Given the description of an element on the screen output the (x, y) to click on. 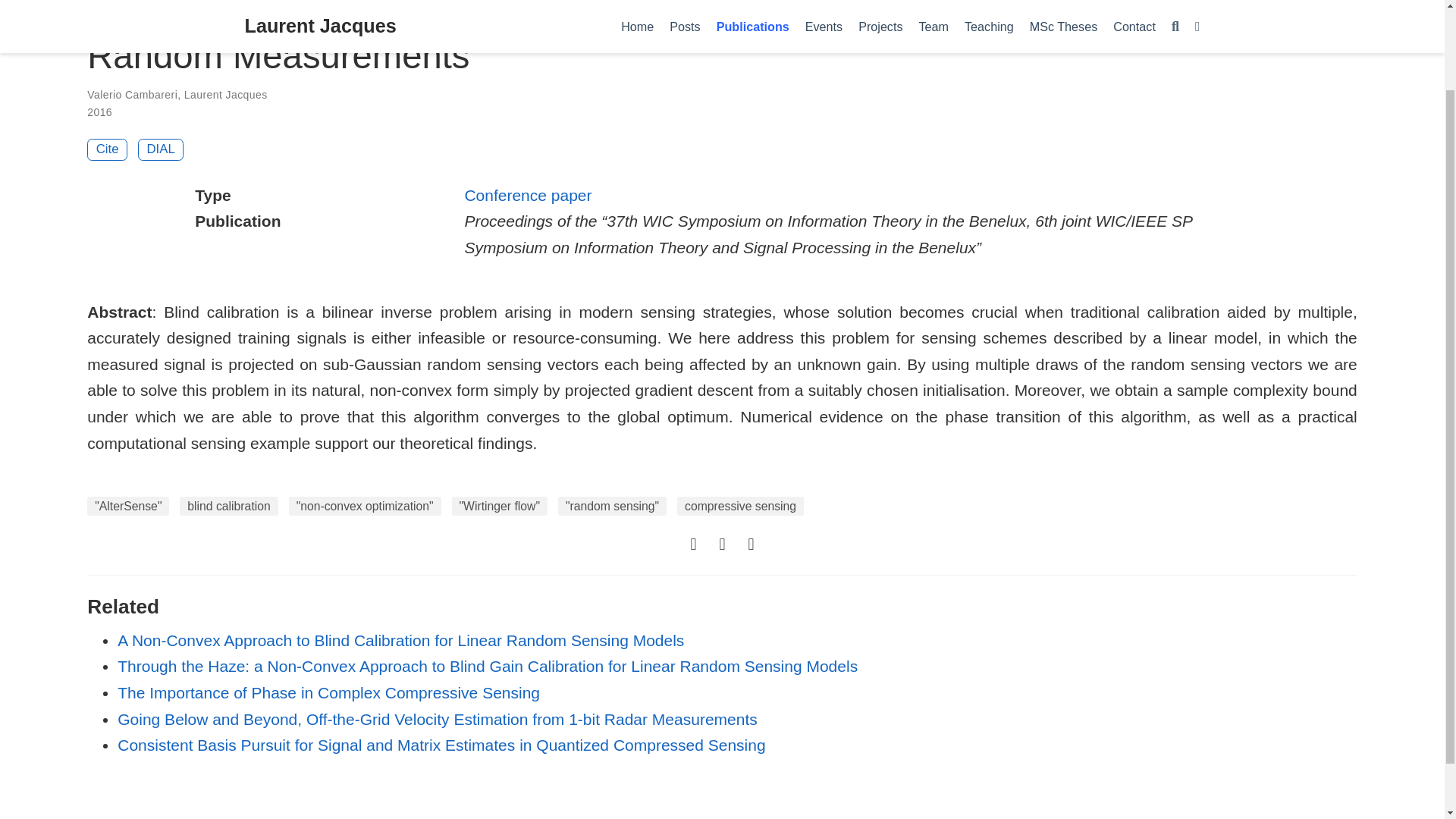
"AlterSense" (127, 506)
compressive sensing (740, 506)
"non-convex optimization" (364, 506)
Conference paper (527, 194)
DIAL (160, 149)
The Importance of Phase in Complex Compressive Sensing (328, 692)
